Given the description of an element on the screen output the (x, y) to click on. 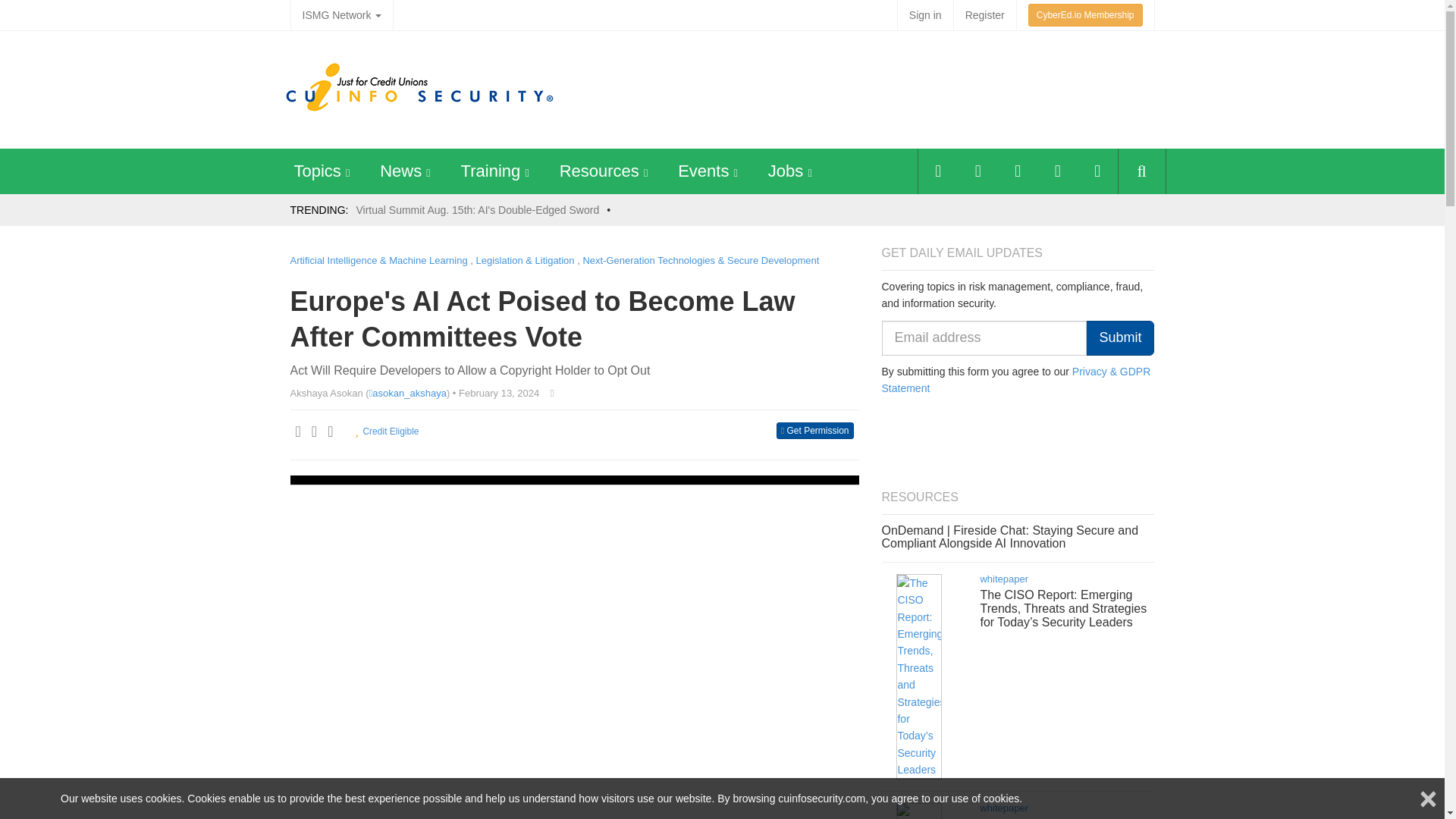
Topics (317, 170)
ISMG Network (341, 15)
CyberEd.io Membership (1084, 15)
Register (984, 15)
Sign in (925, 15)
